Given the description of an element on the screen output the (x, y) to click on. 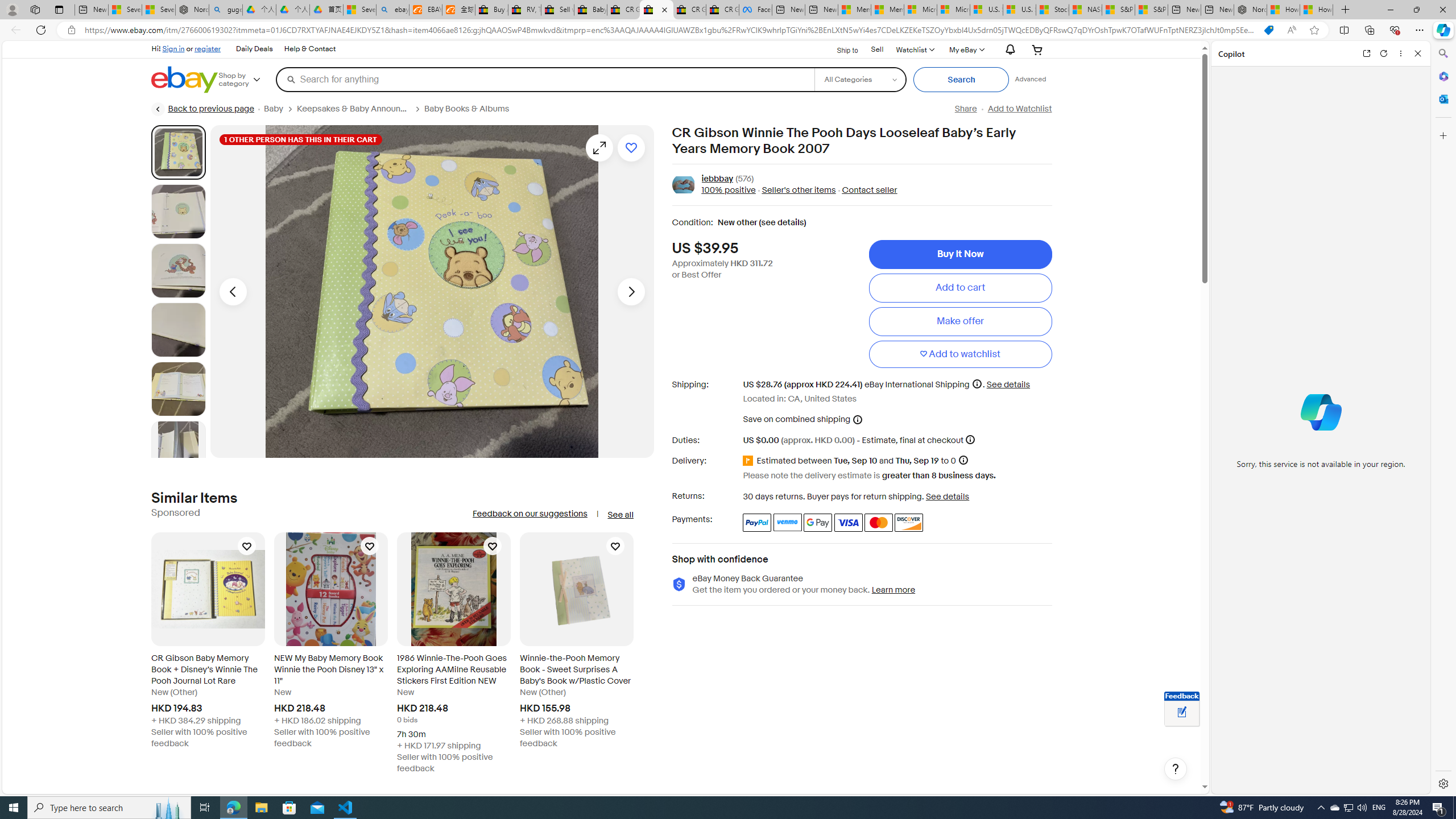
AutomationID: gh-eb-Alerts (1008, 49)
Sign in (172, 48)
eBay Home (184, 79)
Baby Keepsakes & Announcements for sale | eBay (590, 9)
Picture 4 of 22 (178, 329)
RV, Trailer & Camper Steps & Ladders for sale | eBay (524, 9)
Buy Auto Parts & Accessories | eBay (491, 9)
